Given the description of an element on the screen output the (x, y) to click on. 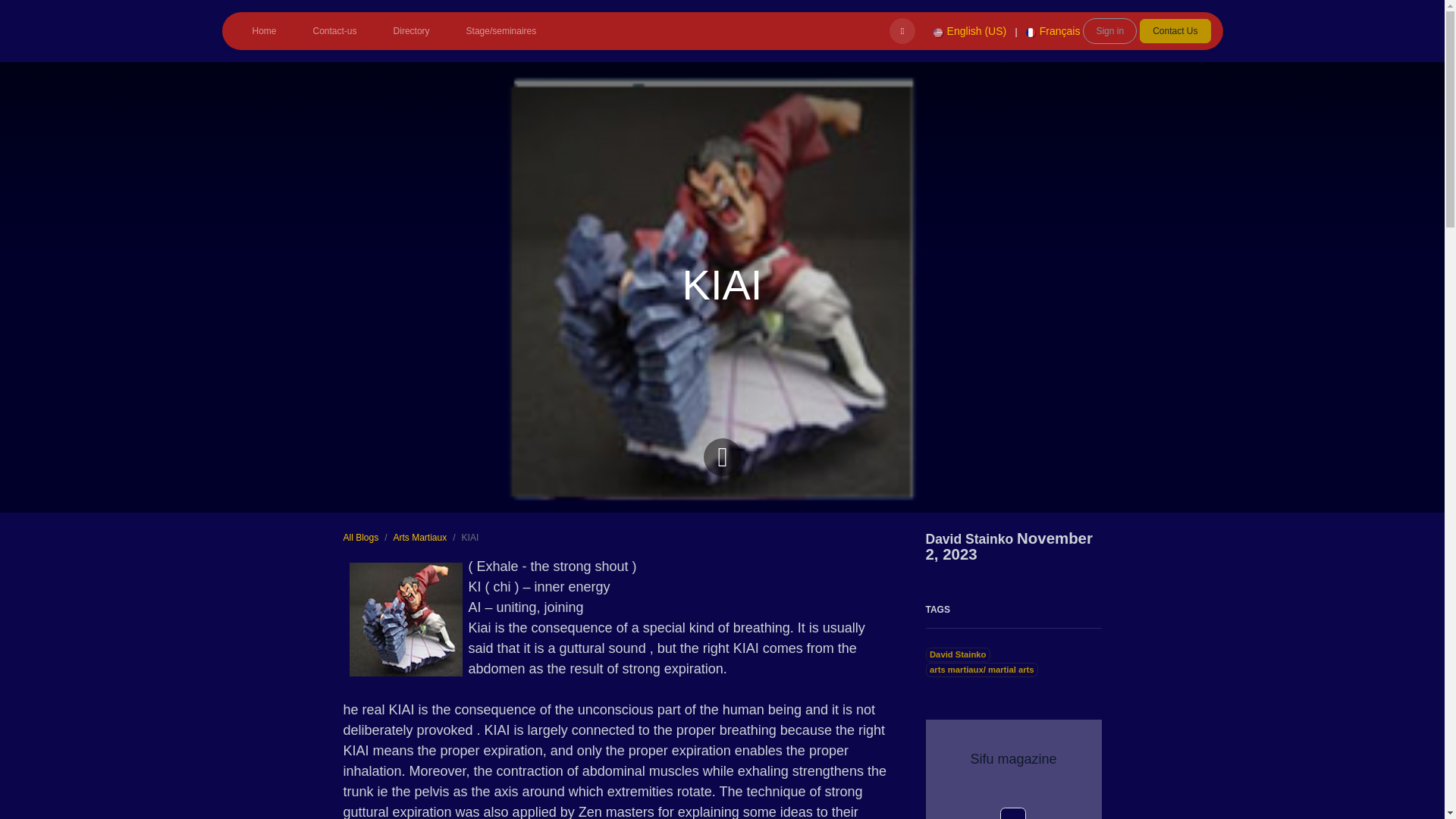
Search (902, 31)
Directory (411, 31)
Contact-us (335, 31)
Arts Martiaux (419, 537)
David Stainko (957, 654)
All Blogs (360, 537)
To blog content (721, 455)
Home (263, 31)
Contact Us (1174, 30)
Sign in (1110, 31)
